Given the description of an element on the screen output the (x, y) to click on. 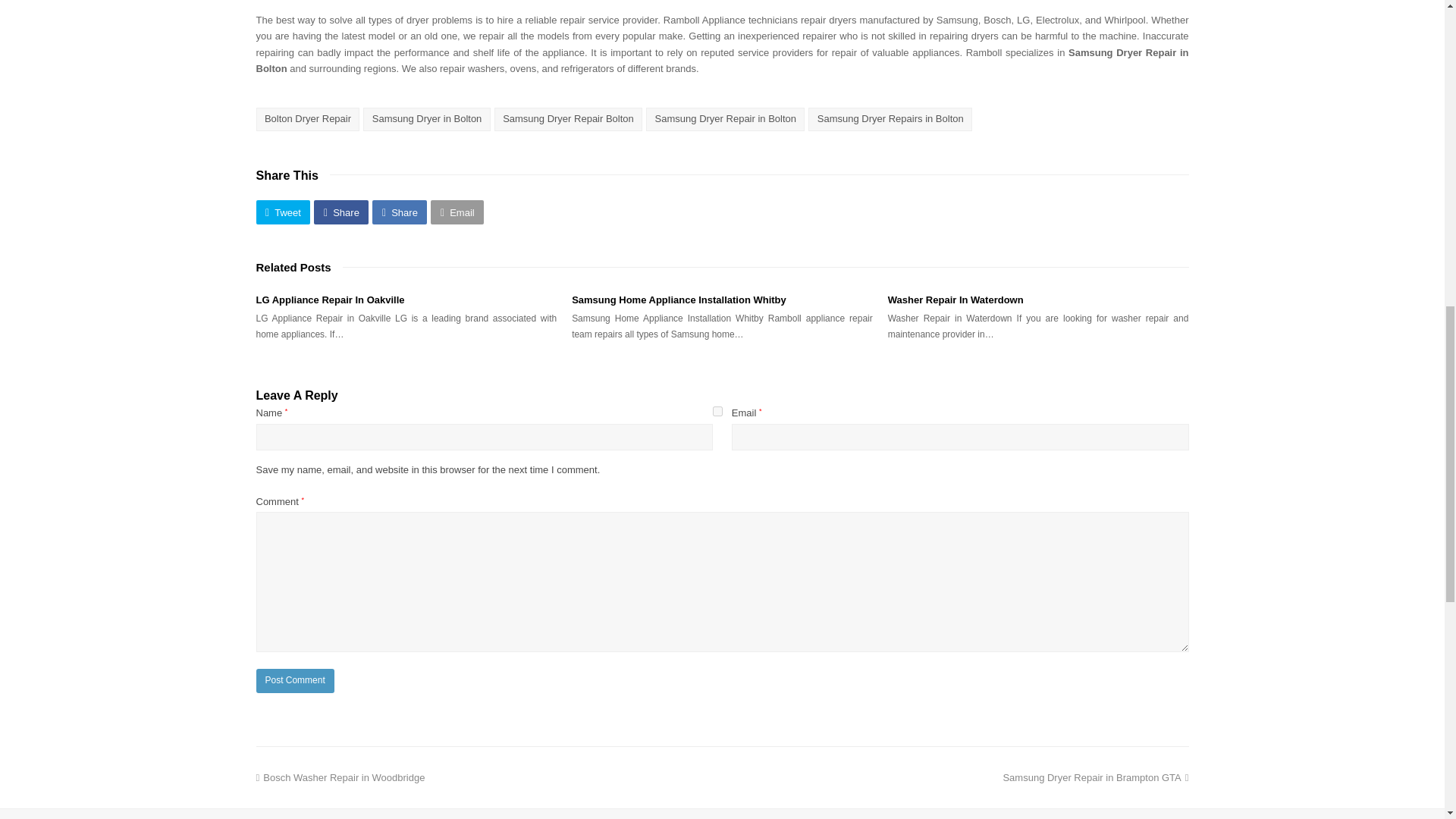
yes (717, 411)
Post Comment (295, 680)
